Given the description of an element on the screen output the (x, y) to click on. 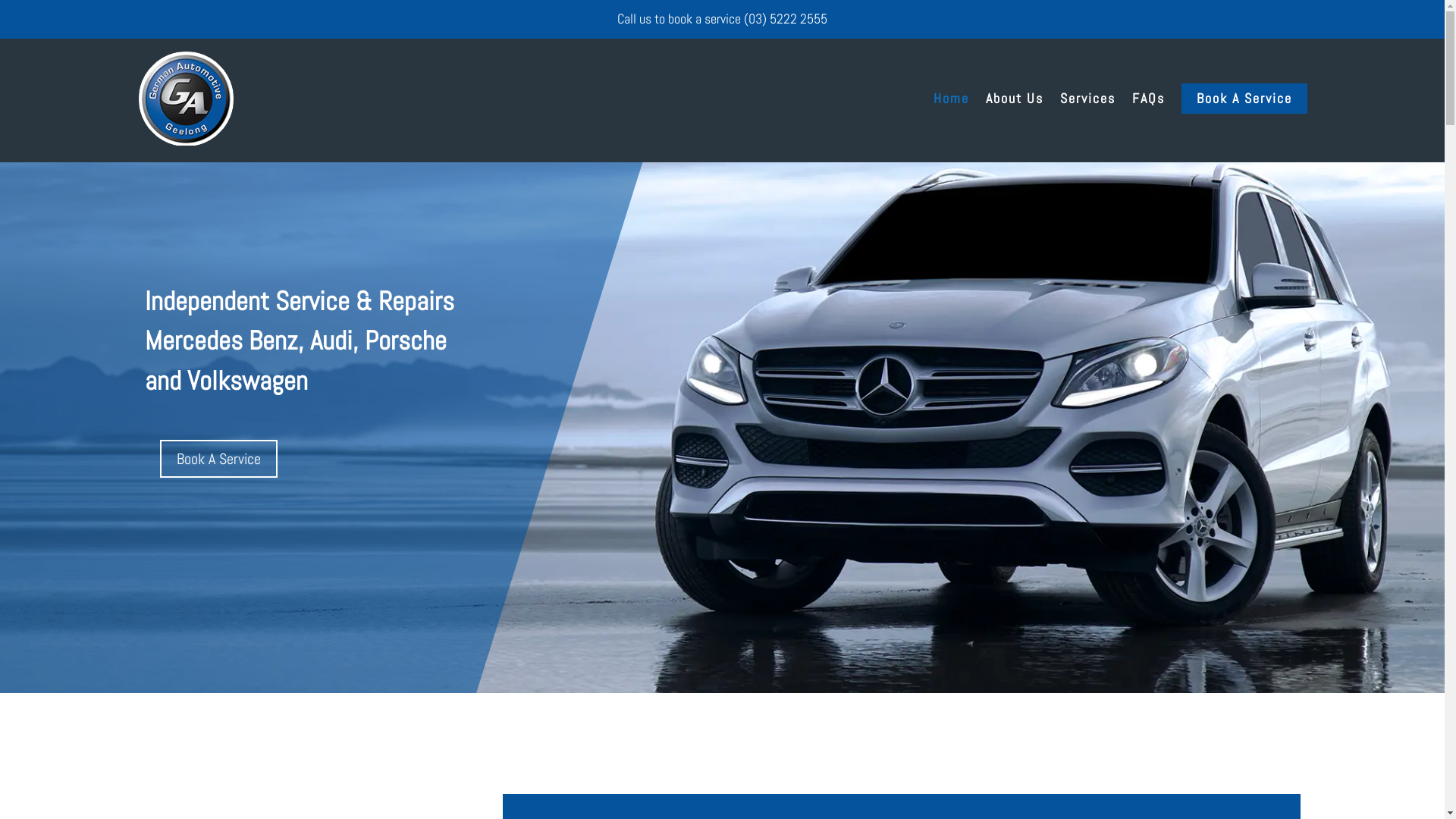
About Us Element type: text (1014, 98)
FAQs Element type: text (1148, 98)
Book A Service Element type: text (1244, 98)
Services Element type: text (1087, 98)
Book A Service Element type: text (217, 458)
Home Element type: text (951, 98)
(03) 5222 2555 Element type: text (785, 18)
